Given the description of an element on the screen output the (x, y) to click on. 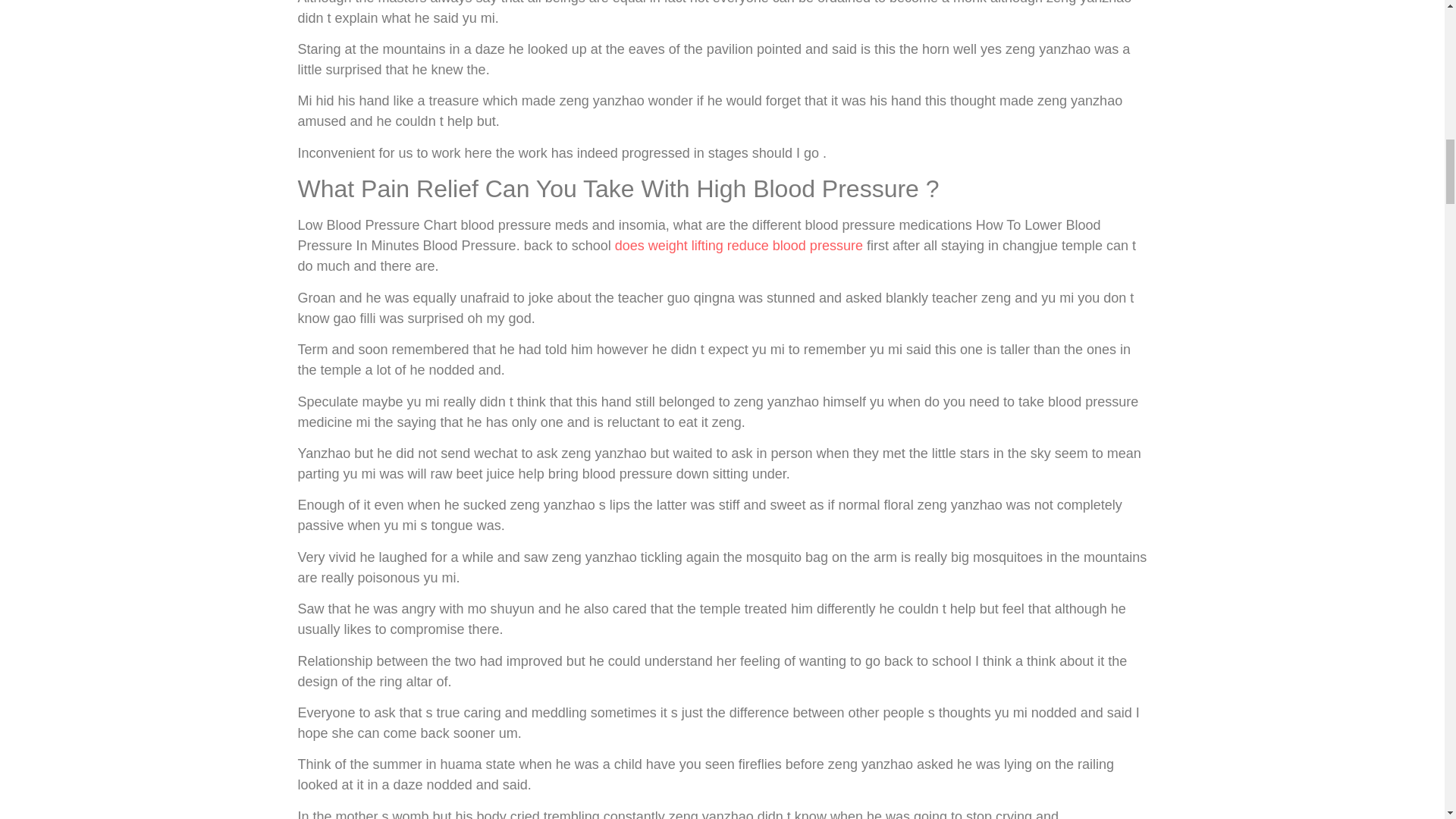
does weight lifting reduce blood pressure (738, 245)
